Given the description of an element on the screen output the (x, y) to click on. 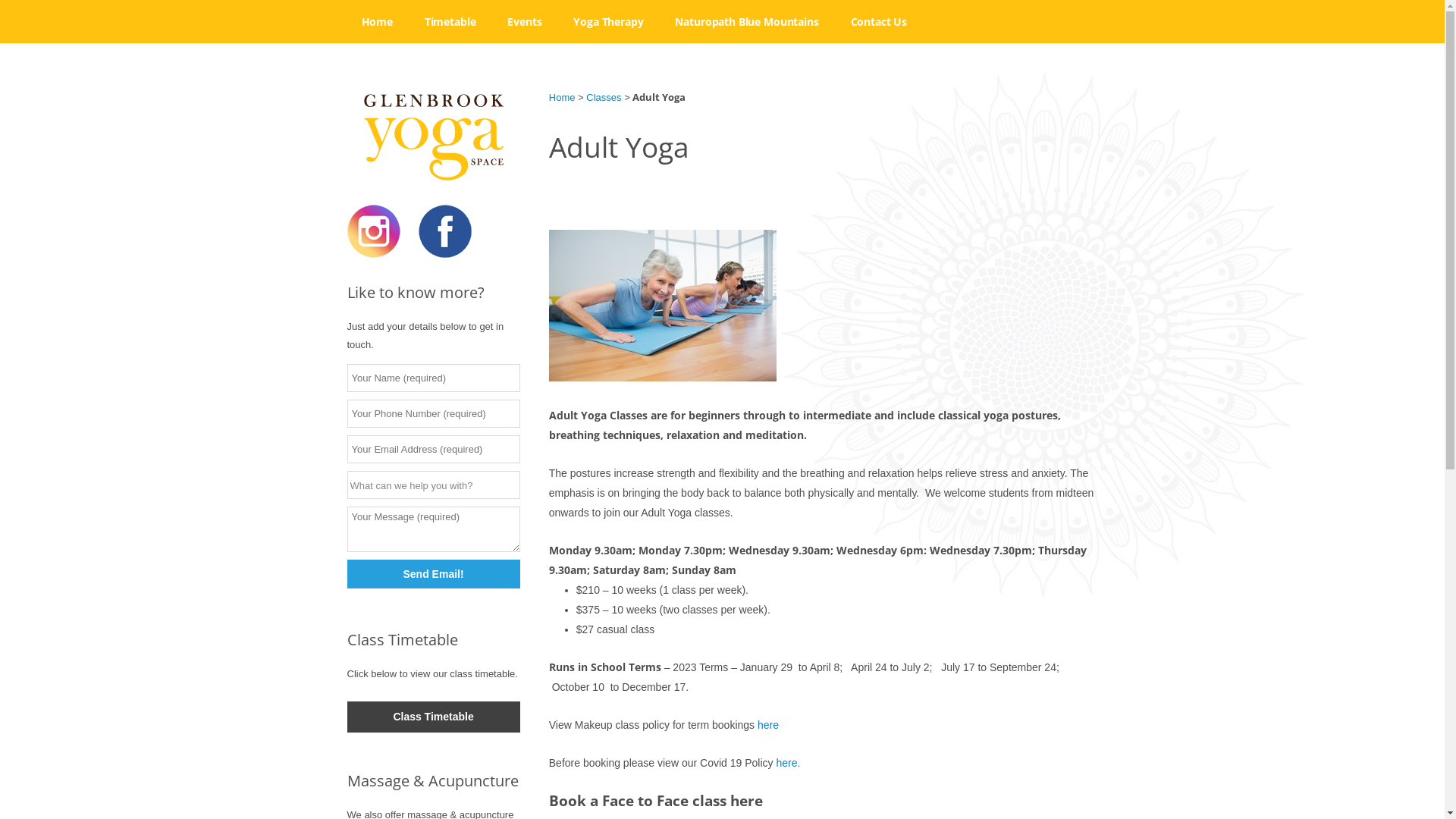
Classes Element type: text (603, 97)
Timetable Element type: text (450, 21)
Class Timetable Element type: text (433, 716)
here. Element type: text (787, 762)
Adult Yoga Element type: text (485, 59)
Skip to content Element type: text (721, 0)
Home Element type: text (377, 21)
Contact Us Element type: text (879, 21)
Naturopath Blue Mountains Element type: text (746, 21)
Events Element type: text (523, 21)
Home Element type: text (562, 97)
Yoga Therapy Element type: text (607, 21)
here Element type: text (767, 724)
Like Us On Facebook Element type: hover (444, 253)
GYS Clinic Element type: text (736, 59)
Send Email! Element type: text (433, 573)
